Given the description of an element on the screen output the (x, y) to click on. 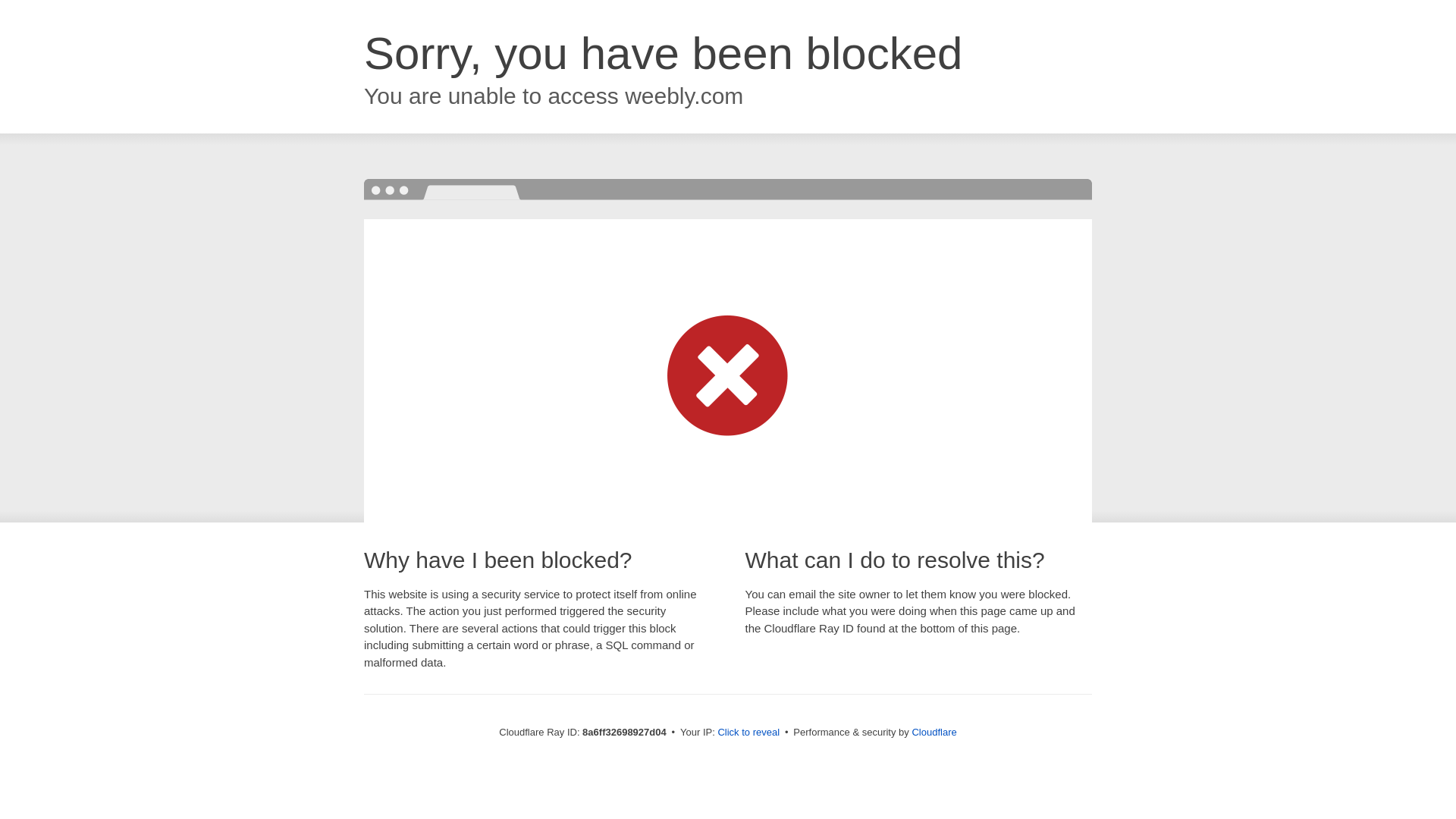
Click to reveal (747, 732)
Cloudflare (933, 731)
